Given the description of an element on the screen output the (x, y) to click on. 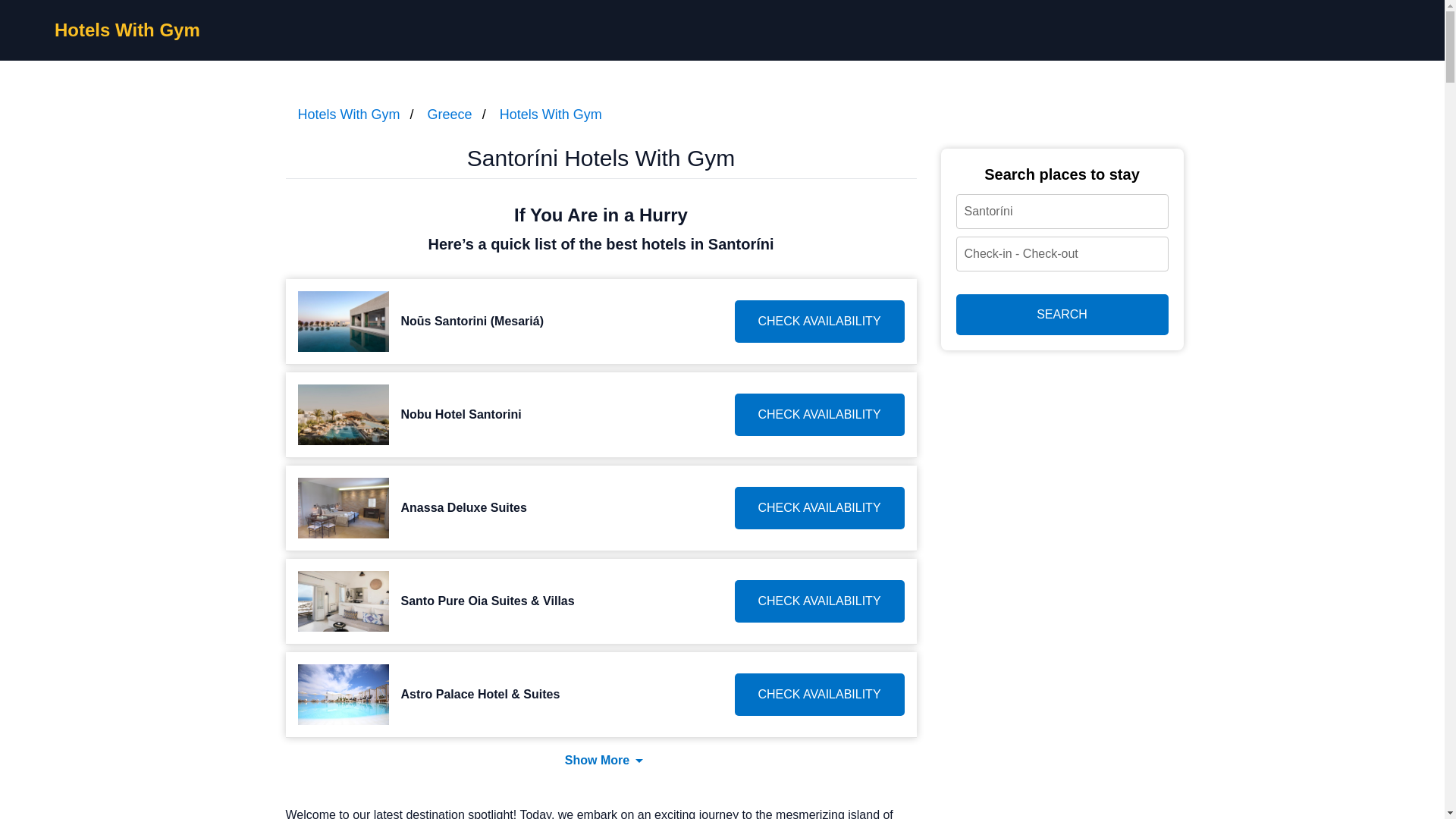
Hotels With Gym (347, 114)
Hotels With Gym (127, 29)
Hotels With Gym (550, 114)
SEARCH (1061, 314)
Greece (449, 114)
